Given the description of an element on the screen output the (x, y) to click on. 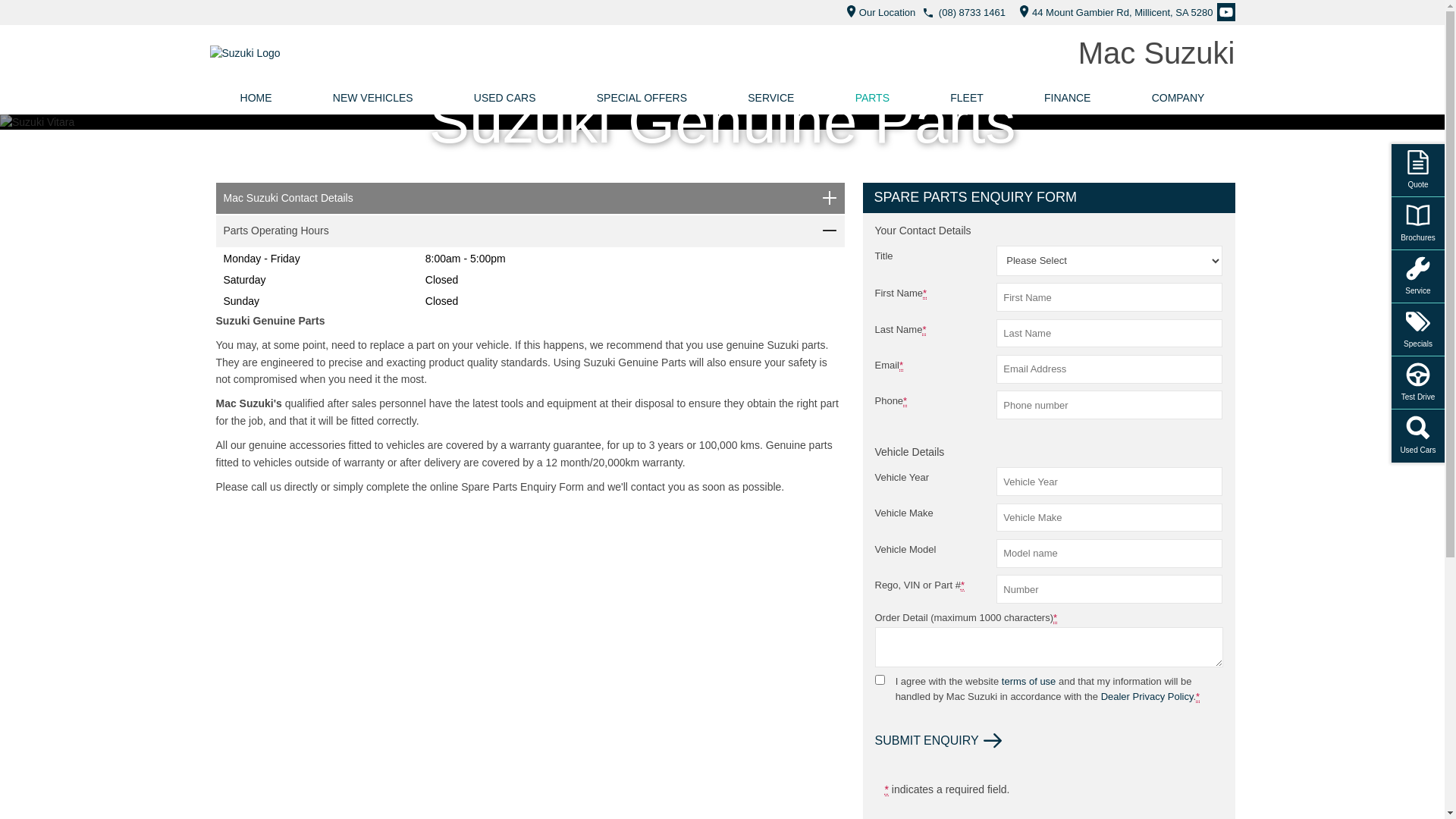
FLEET Element type: text (966, 97)
HOME Element type: text (255, 97)
Mac Suzuki Element type: text (1156, 52)
USED CARS Element type: text (504, 97)
PARTS Element type: text (872, 97)
NEW VEHICLES Element type: text (372, 97)
Mac Suzuki Contact Details Element type: text (529, 197)
FINANCE Element type: text (1067, 97)
Dealer Privacy Policy Element type: text (1147, 696)
Submit Enquiry Element type: text (938, 740)
44 Mount Gambier Rd, Millicent, SA 5280 Element type: text (1111, 12)
terms of use Element type: text (1028, 681)
(08) 8733 1461 Element type: text (971, 12)
SERVICE Element type: text (770, 97)
Parts Operating Hours Element type: text (529, 230)
Our Location Element type: text (876, 12)
COMPANY Element type: text (1178, 97)
YouTube Element type: text (1225, 12)
SPECIAL OFFERS Element type: text (642, 97)
